Given the description of an element on the screen output the (x, y) to click on. 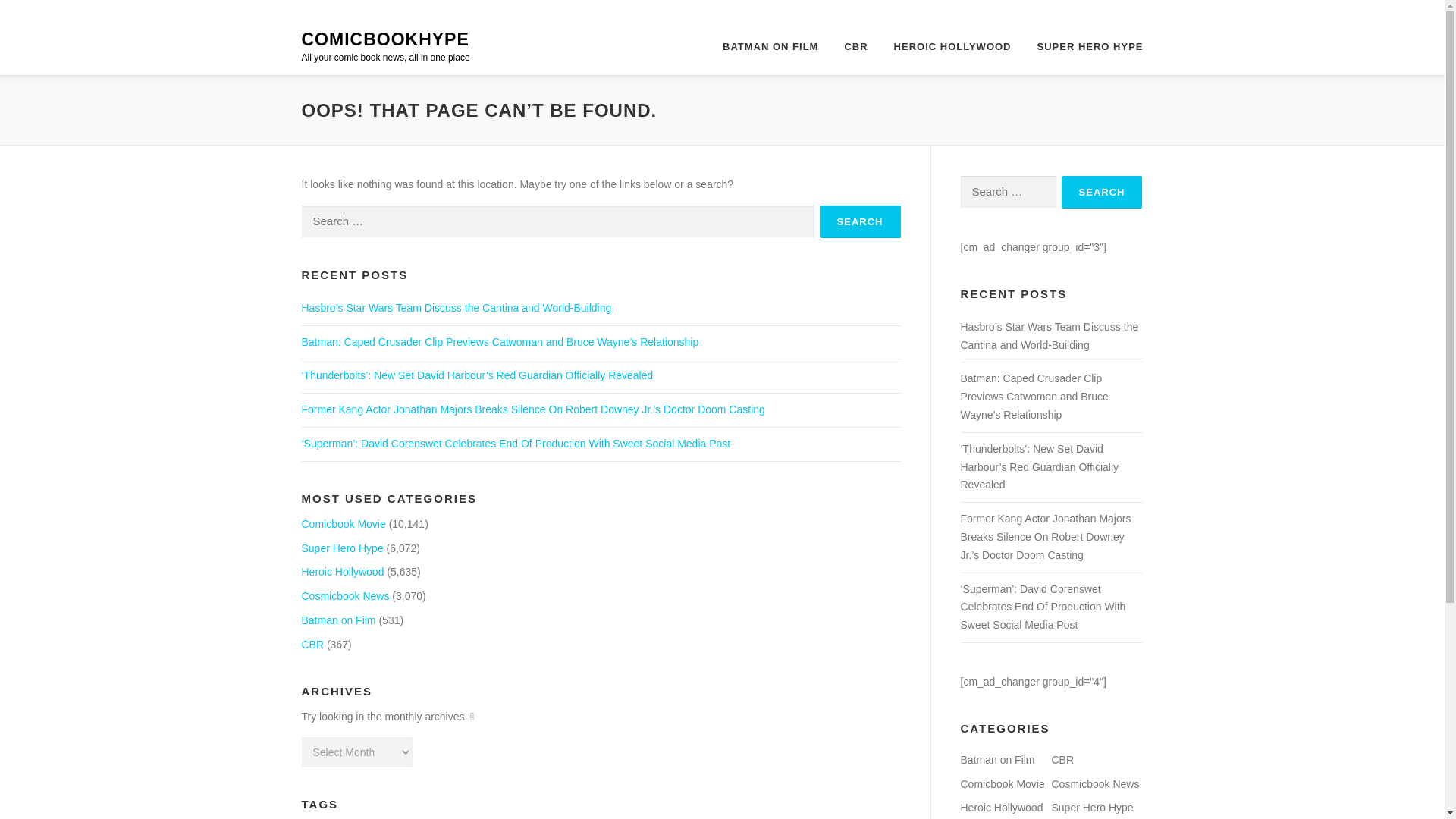
Search (1101, 192)
Search (860, 221)
Search (860, 221)
Search (1101, 192)
BATMAN ON FILM (770, 46)
Comicbook Movie (343, 523)
Skip to content (34, 27)
CBR (312, 644)
SUPER HERO HYPE (1083, 46)
Batman on Film (338, 620)
Super Hero Hype (342, 548)
Heroic Hollywood (342, 571)
COMICBOOKHYPE (384, 39)
Cosmicbook News (345, 595)
HEROIC HOLLYWOOD (952, 46)
